Given the description of an element on the screen output the (x, y) to click on. 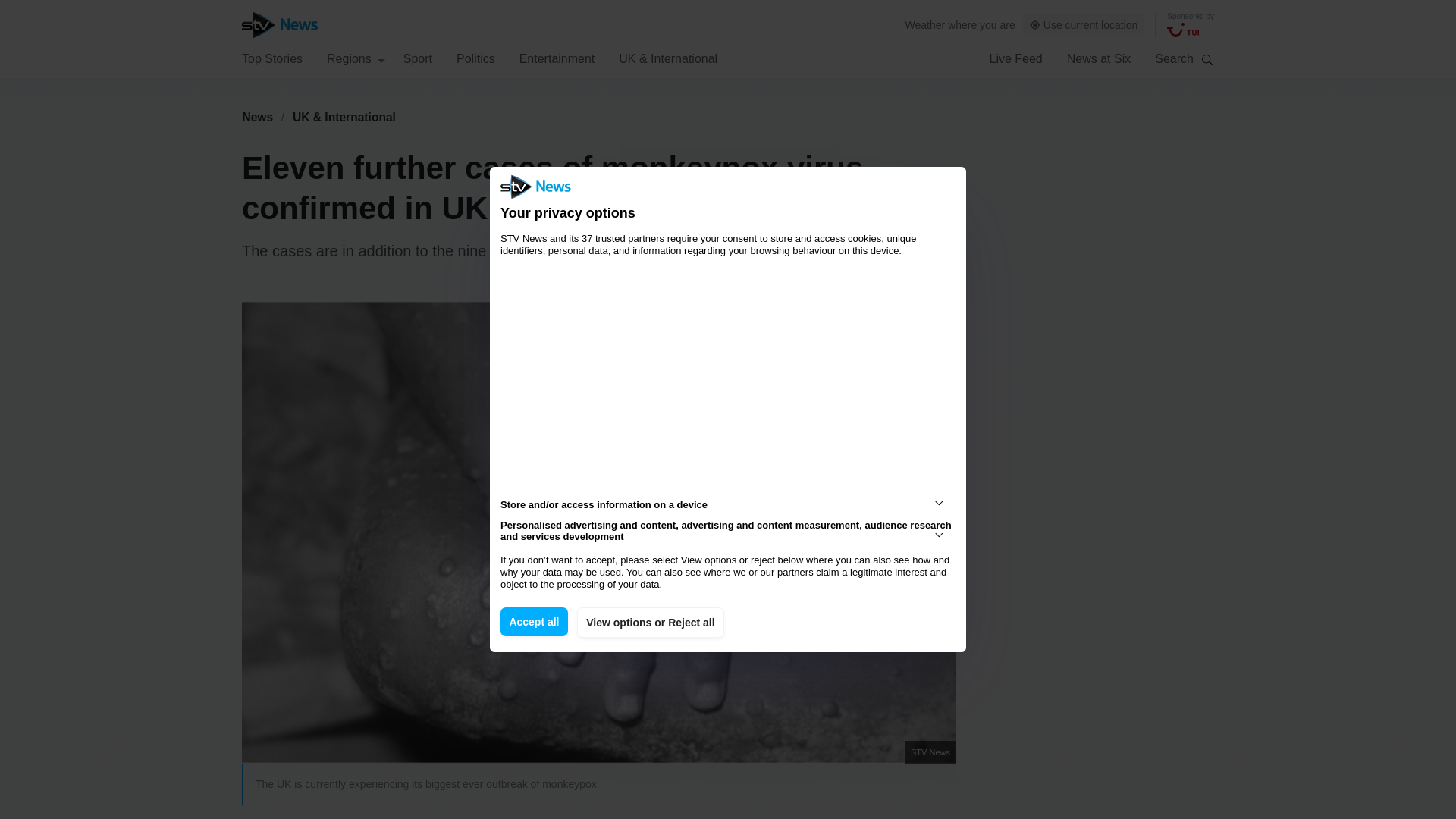
Weather (924, 24)
Regions (355, 57)
Entertainment (557, 57)
News (257, 116)
Live Feed (1015, 57)
News at Six (1099, 57)
Search (1206, 59)
Use current location (1083, 25)
Top Stories (271, 57)
Politics (476, 57)
